Given the description of an element on the screen output the (x, y) to click on. 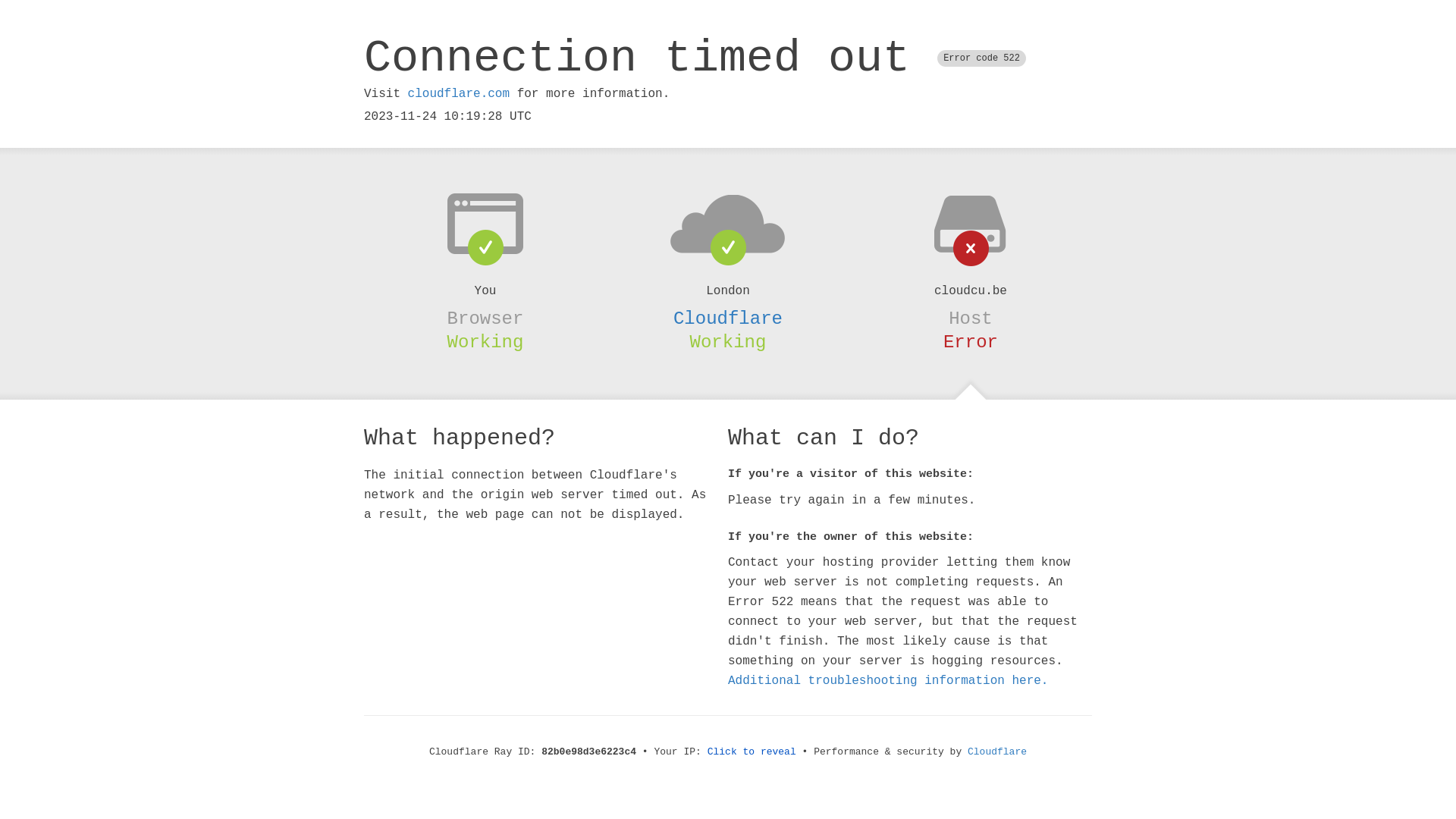
Additional troubleshooting information here. Element type: text (888, 680)
Cloudflare Element type: text (996, 751)
Click to reveal Element type: text (751, 751)
Cloudflare Element type: text (727, 318)
cloudflare.com Element type: text (458, 93)
